Given the description of an element on the screen output the (x, y) to click on. 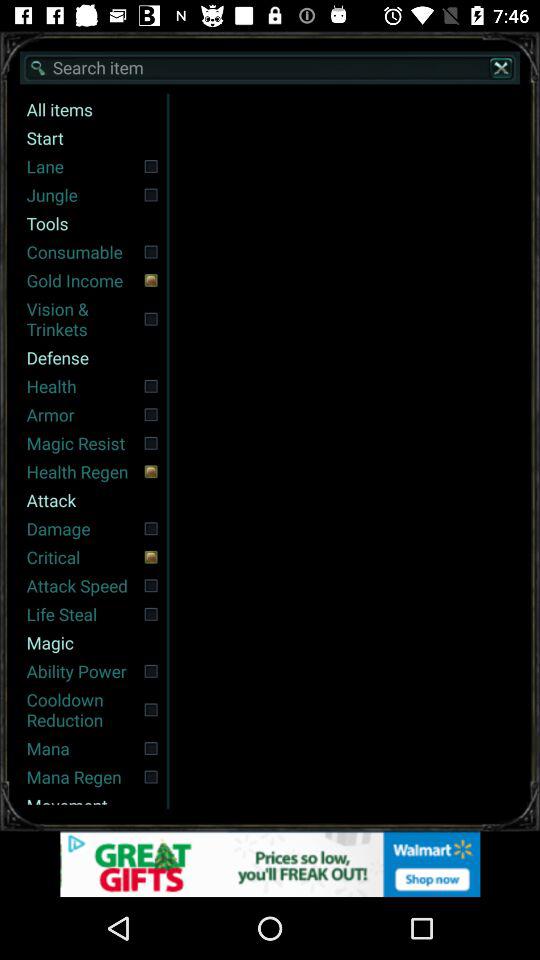
search item (269, 67)
